Given the description of an element on the screen output the (x, y) to click on. 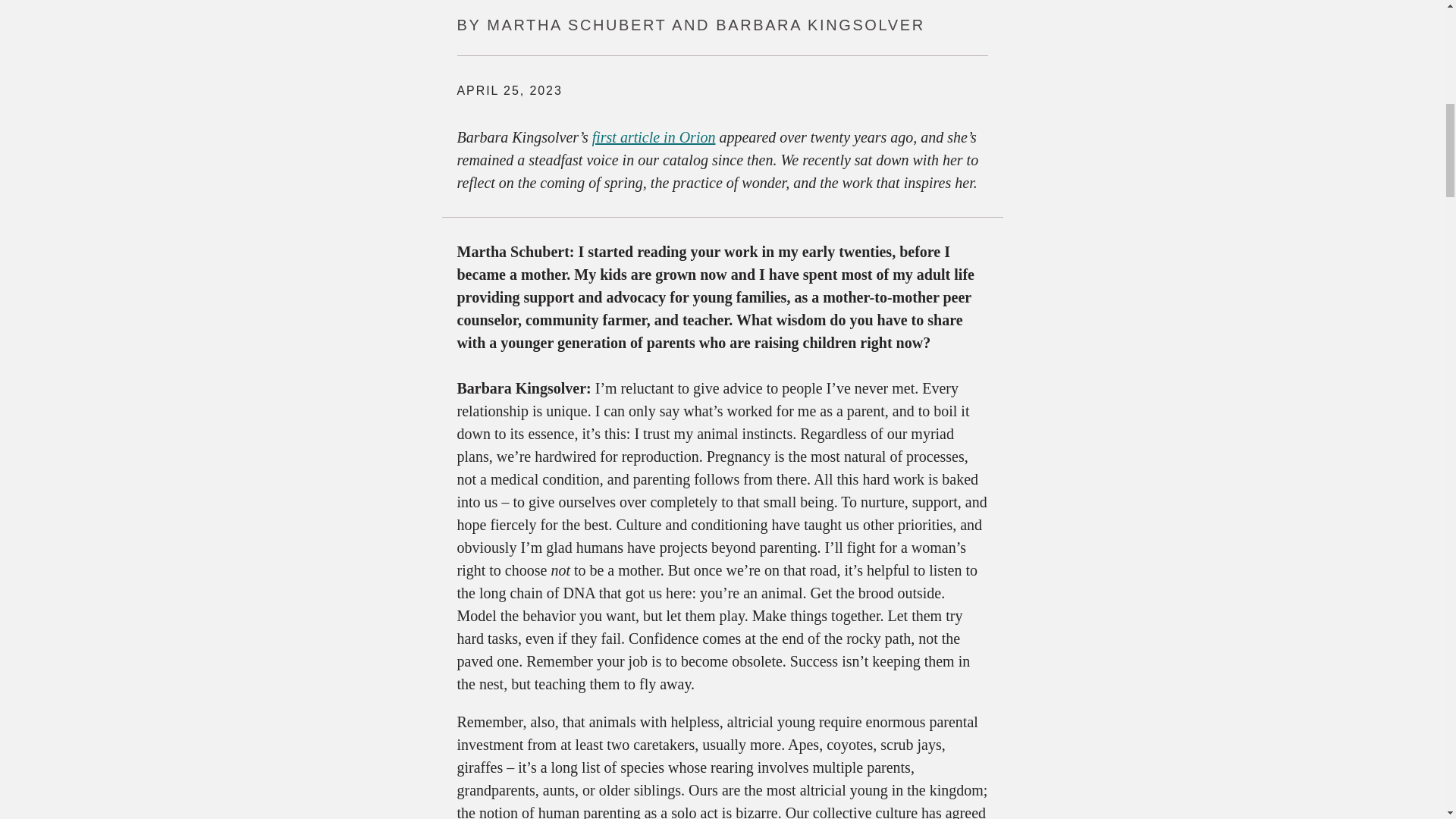
first article in Orion (654, 136)
BARBARA KINGSOLVER (820, 24)
APRIL 25, 2023 (509, 90)
MARTHA SCHUBERT (576, 24)
